Given the description of an element on the screen output the (x, y) to click on. 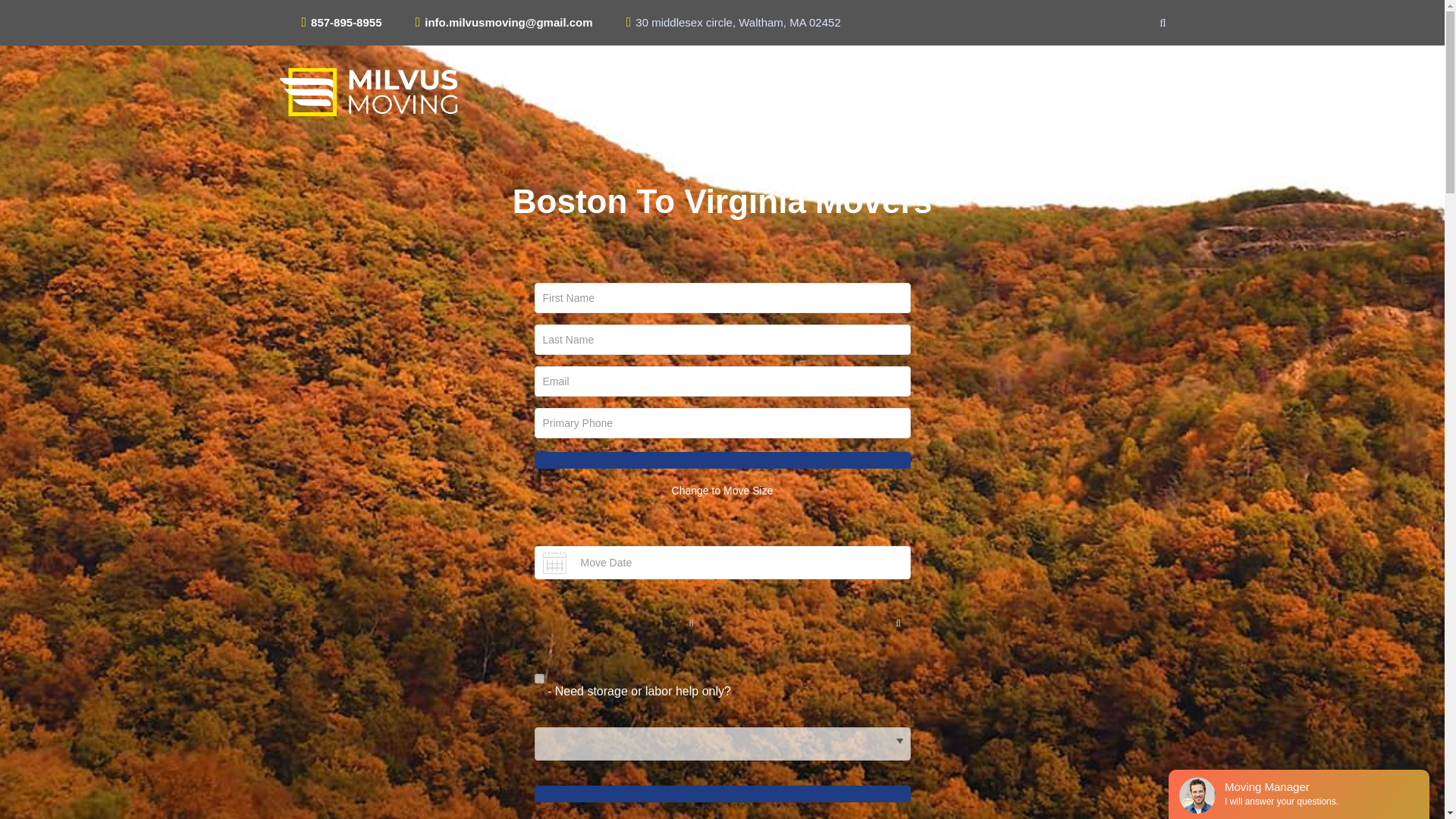
FAQ (1112, 195)
ABOUT US (966, 87)
Search (1087, 71)
Storage (1031, 164)
Packing (1031, 195)
857-895-8955 (346, 21)
SERVICES (884, 87)
Contacts (1112, 164)
Art and Antique Moving (1031, 256)
LOCAL MOVERS (623, 87)
Our Reviews (1112, 225)
College Movers (1031, 379)
Commercial Moving (1031, 318)
HOME (535, 87)
Change to Move Size (722, 490)
